Given the description of an element on the screen output the (x, y) to click on. 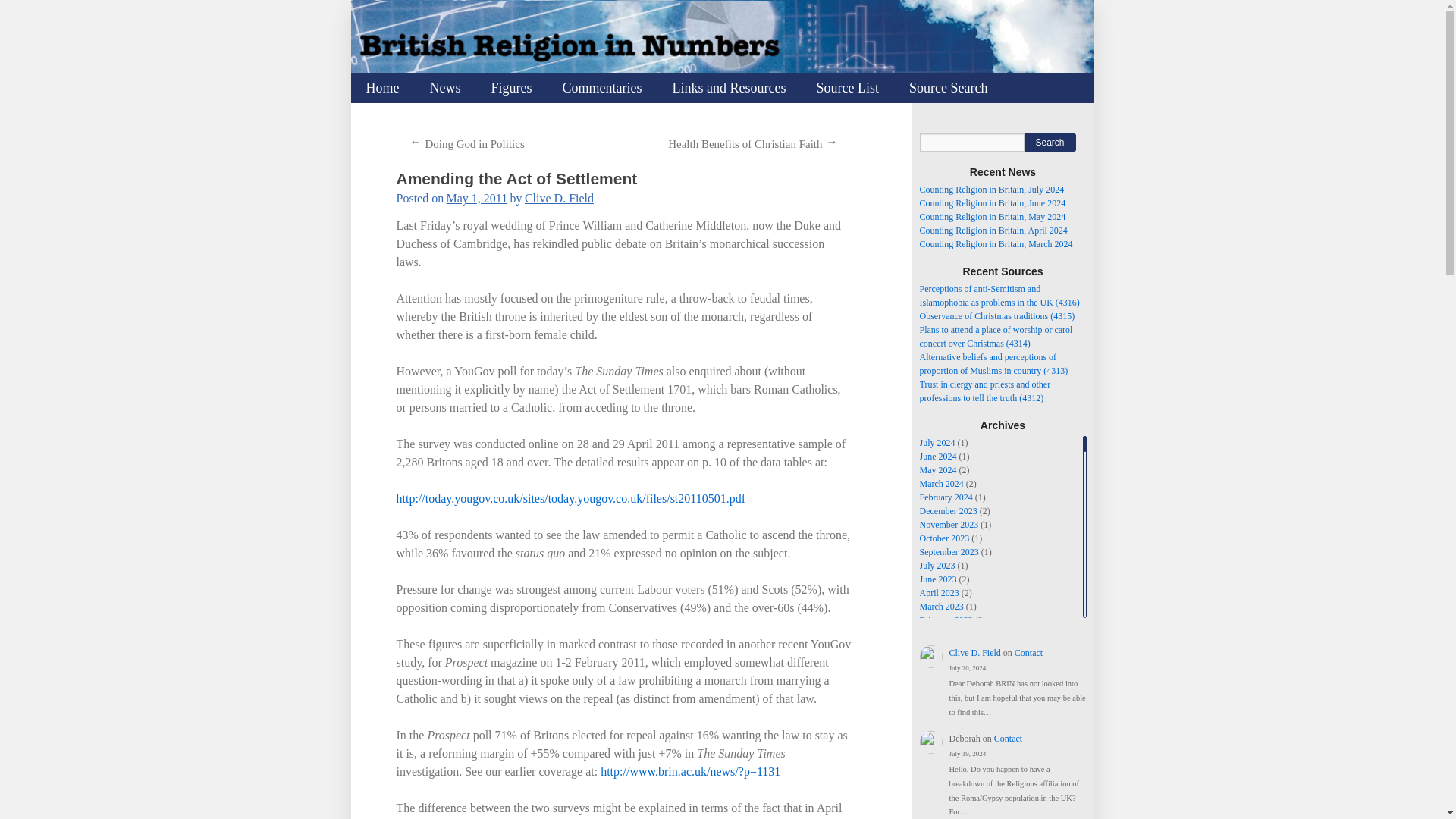
News (444, 87)
Search (1049, 142)
View all posts by Clive D. Field (559, 197)
Figures (511, 87)
7:22 pm (477, 197)
Home (381, 87)
